Given the description of an element on the screen output the (x, y) to click on. 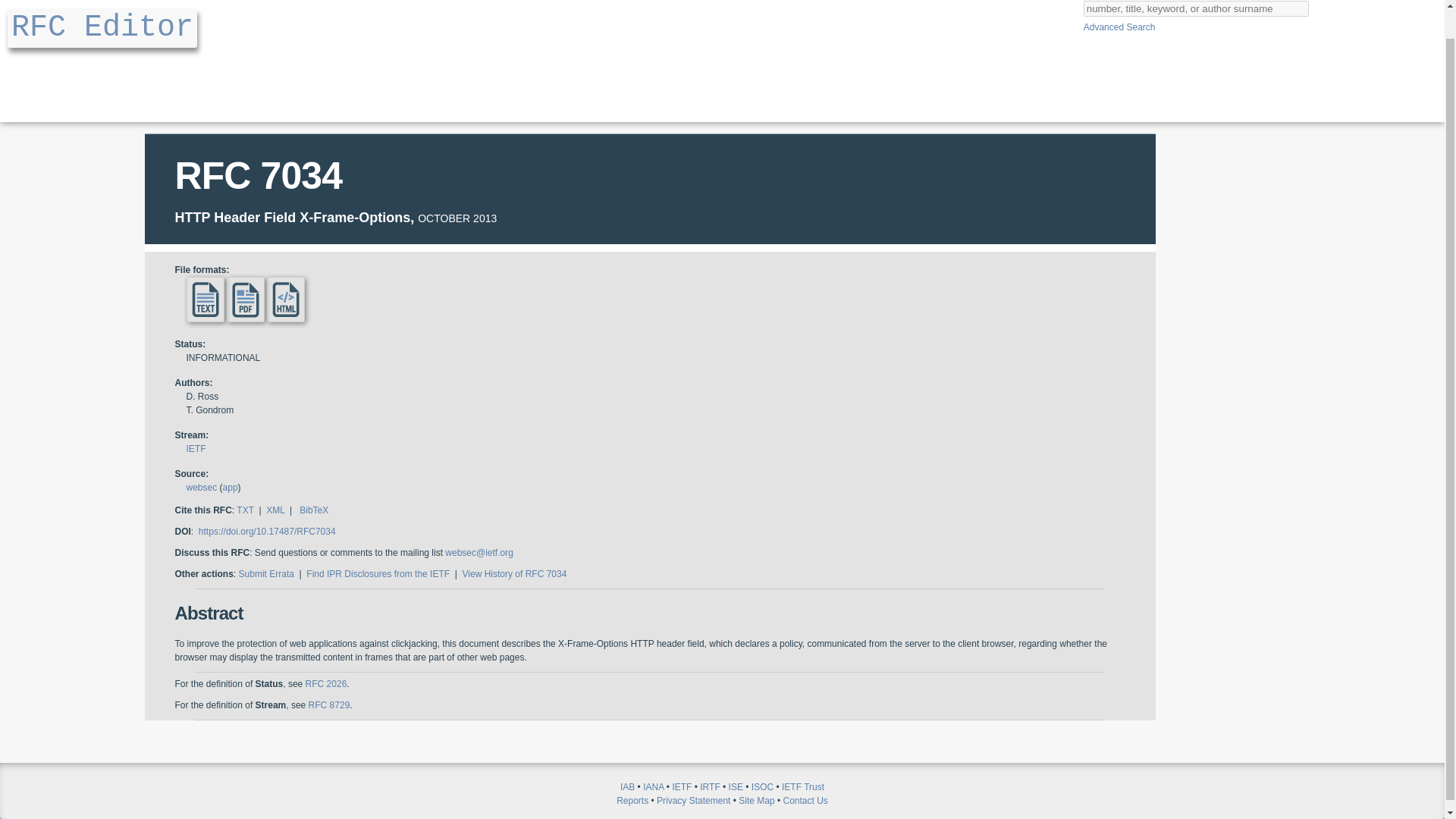
IAB (627, 787)
ISE (735, 787)
Contact Us (805, 800)
Find IPR Disclosures from the IETF (377, 573)
ISOC (762, 787)
RFC 7034 (258, 175)
IRTF (709, 787)
RFC Editor (101, 27)
IETF (681, 787)
XML (274, 510)
